Given the description of an element on the screen output the (x, y) to click on. 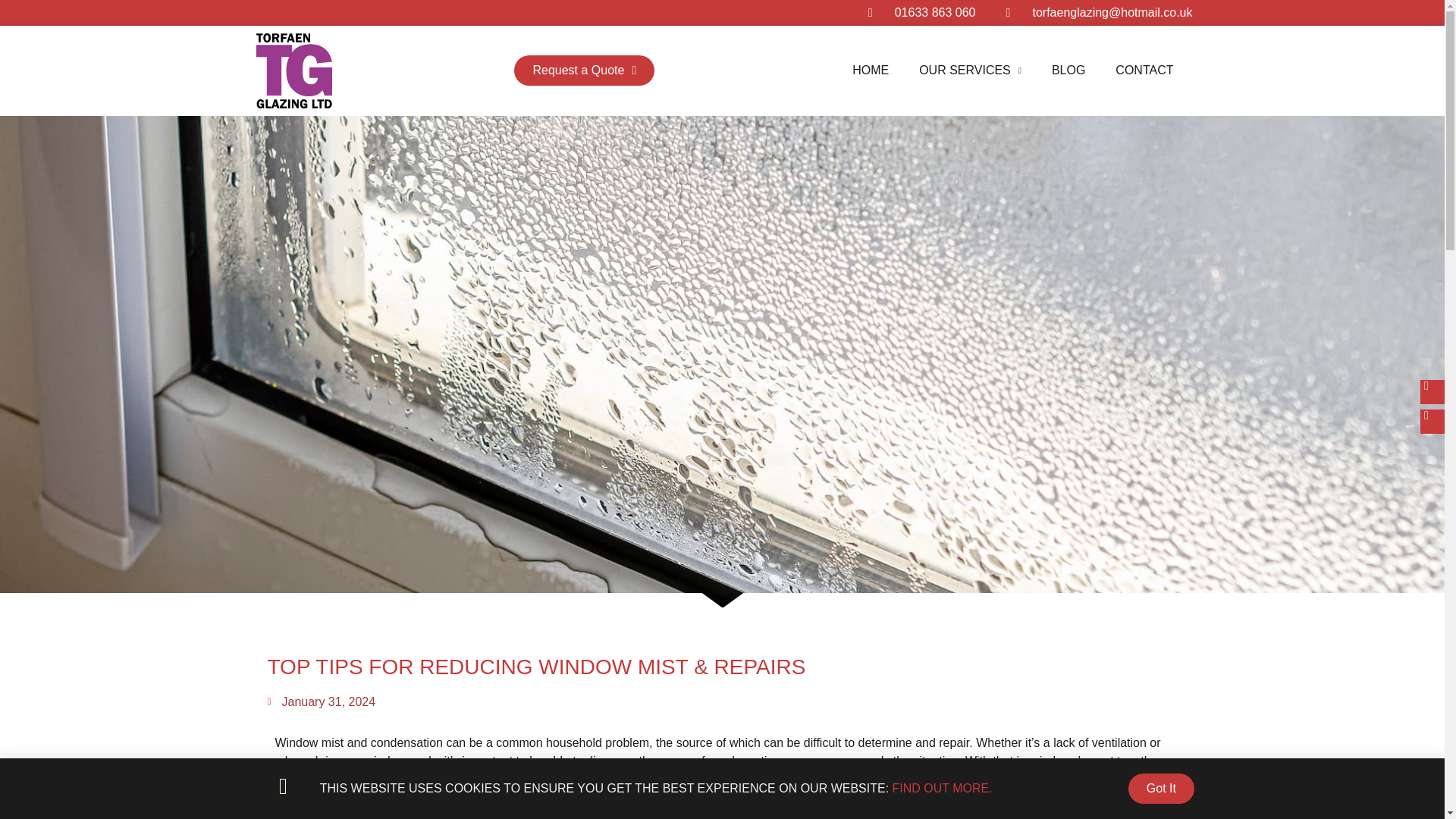
January 31, 2024 (320, 701)
CONTACT (1144, 70)
BLOG (1068, 70)
01633 863 060 (921, 13)
HOME (870, 70)
OUR SERVICES (970, 70)
Request a Quote (583, 70)
